Given the description of an element on the screen output the (x, y) to click on. 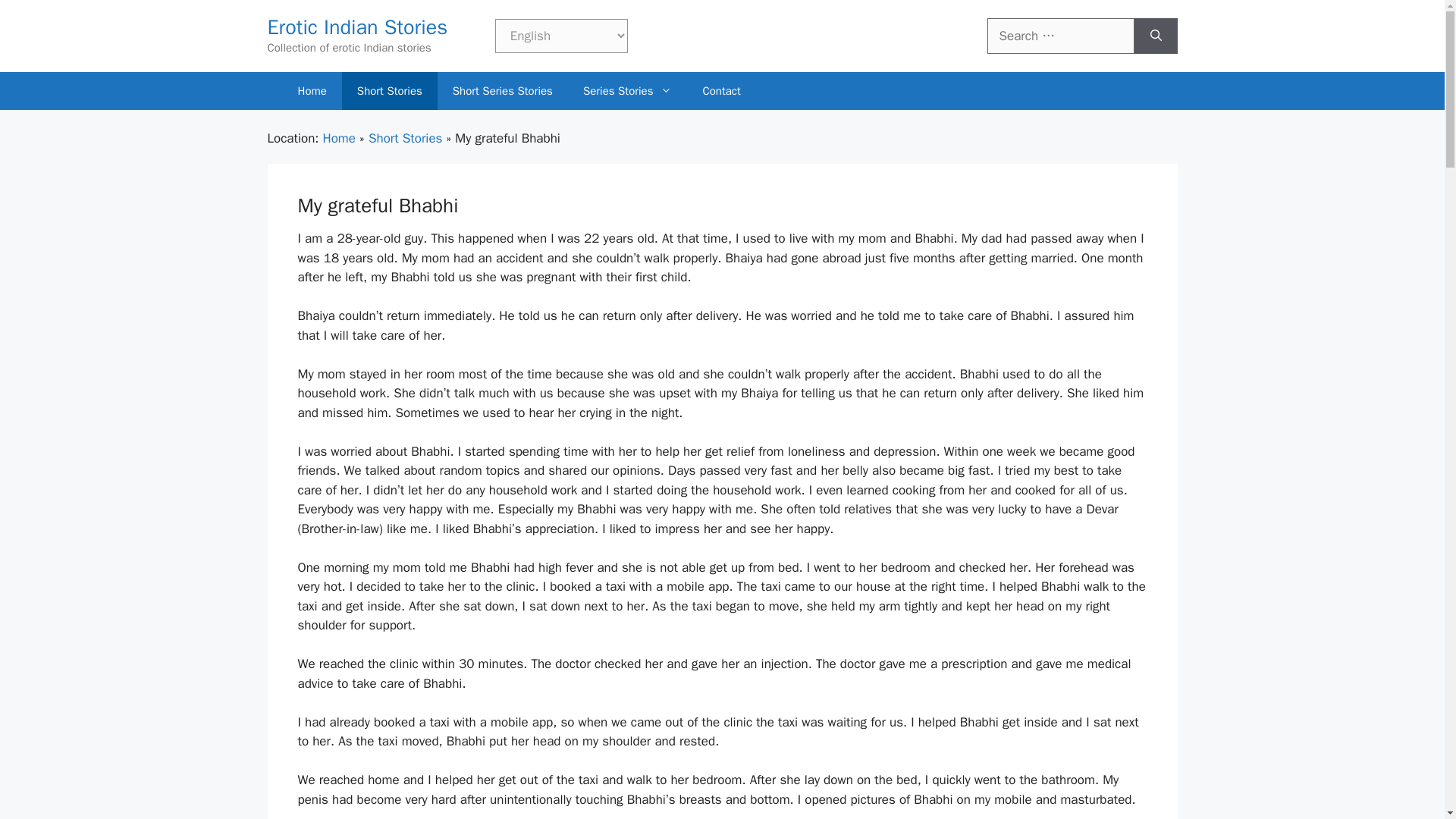
Home (339, 138)
Short Stories (390, 90)
Erotic Indian Stories (356, 27)
Short Series Stories (502, 90)
Series Stories (627, 90)
Contact (721, 90)
Short Stories (405, 138)
Home (311, 90)
Search for: (1060, 36)
